Given the description of an element on the screen output the (x, y) to click on. 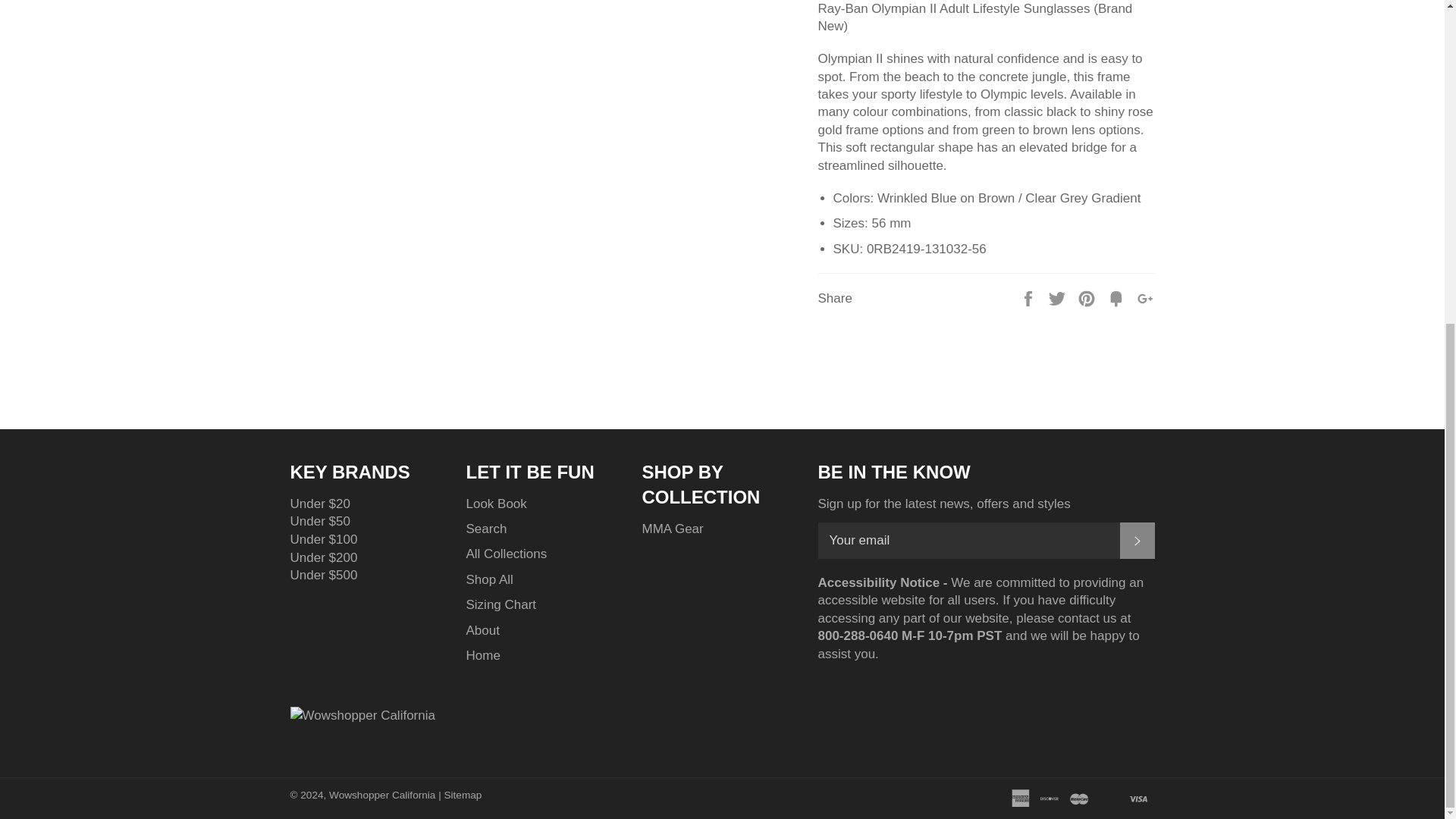
SUBSCRIBE (1136, 540)
Wowshopper California (361, 733)
Tweet (1059, 297)
Share (1030, 297)
Pin it (1088, 297)
Fancy (1117, 297)
